Given the description of an element on the screen output the (x, y) to click on. 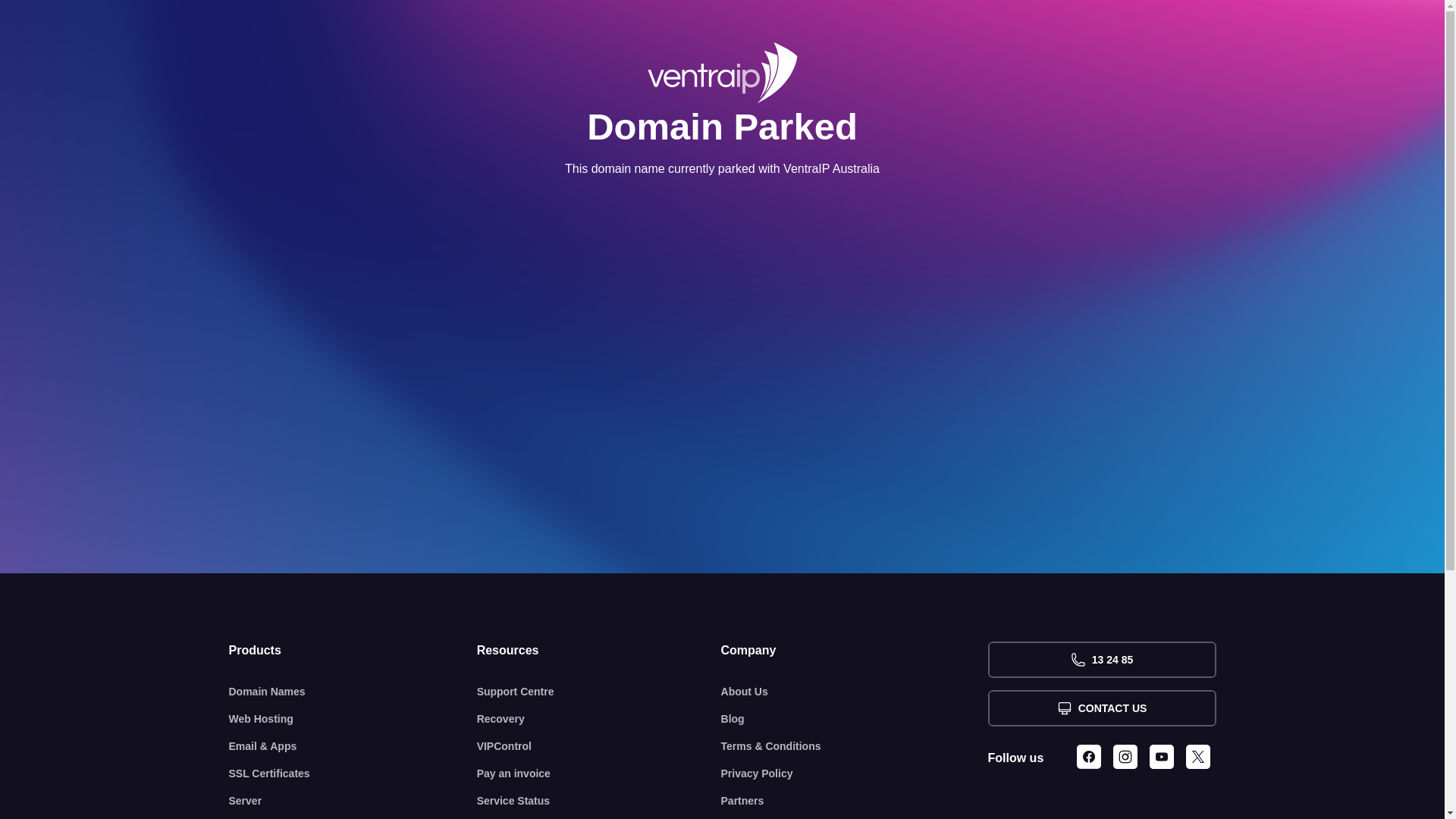
Web Hosting Element type: text (352, 718)
Terms & Conditions Element type: text (854, 745)
Pay an invoice Element type: text (598, 773)
Server Element type: text (352, 800)
Email & Apps Element type: text (352, 745)
VIPControl Element type: text (598, 745)
Domain Names Element type: text (352, 691)
Service Status Element type: text (598, 800)
Partners Element type: text (854, 800)
Support Centre Element type: text (598, 691)
Blog Element type: text (854, 718)
Privacy Policy Element type: text (854, 773)
13 24 85 Element type: text (1101, 659)
CONTACT US Element type: text (1101, 708)
SSL Certificates Element type: text (352, 773)
About Us Element type: text (854, 691)
Recovery Element type: text (598, 718)
